Given the description of an element on the screen output the (x, y) to click on. 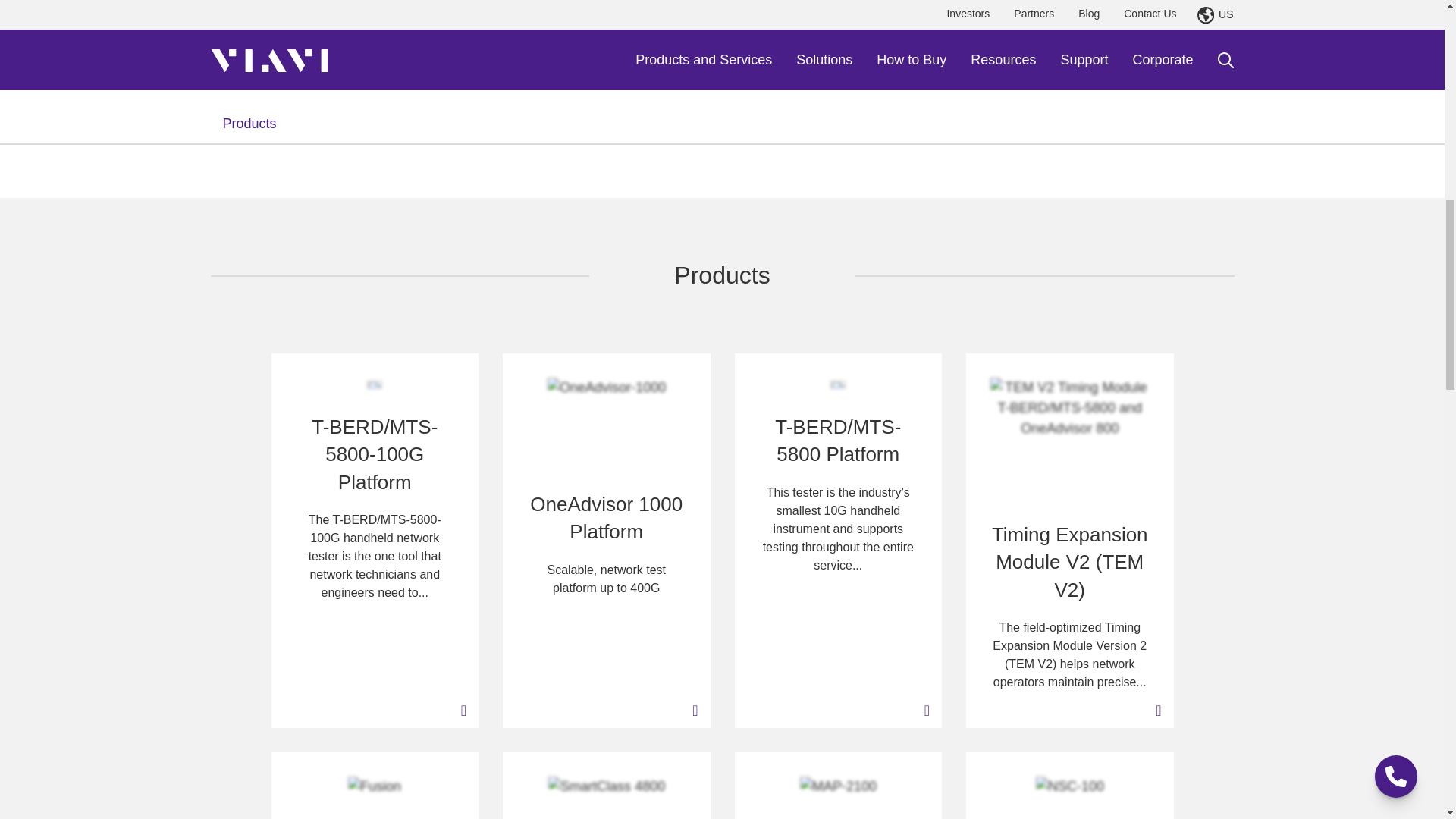
Fusion (374, 796)
OneAdvisor-1000 (606, 421)
SmartClass 4800 (606, 797)
NSC-100 (1069, 797)
MAP-2100 (837, 797)
